Given the description of an element on the screen output the (x, y) to click on. 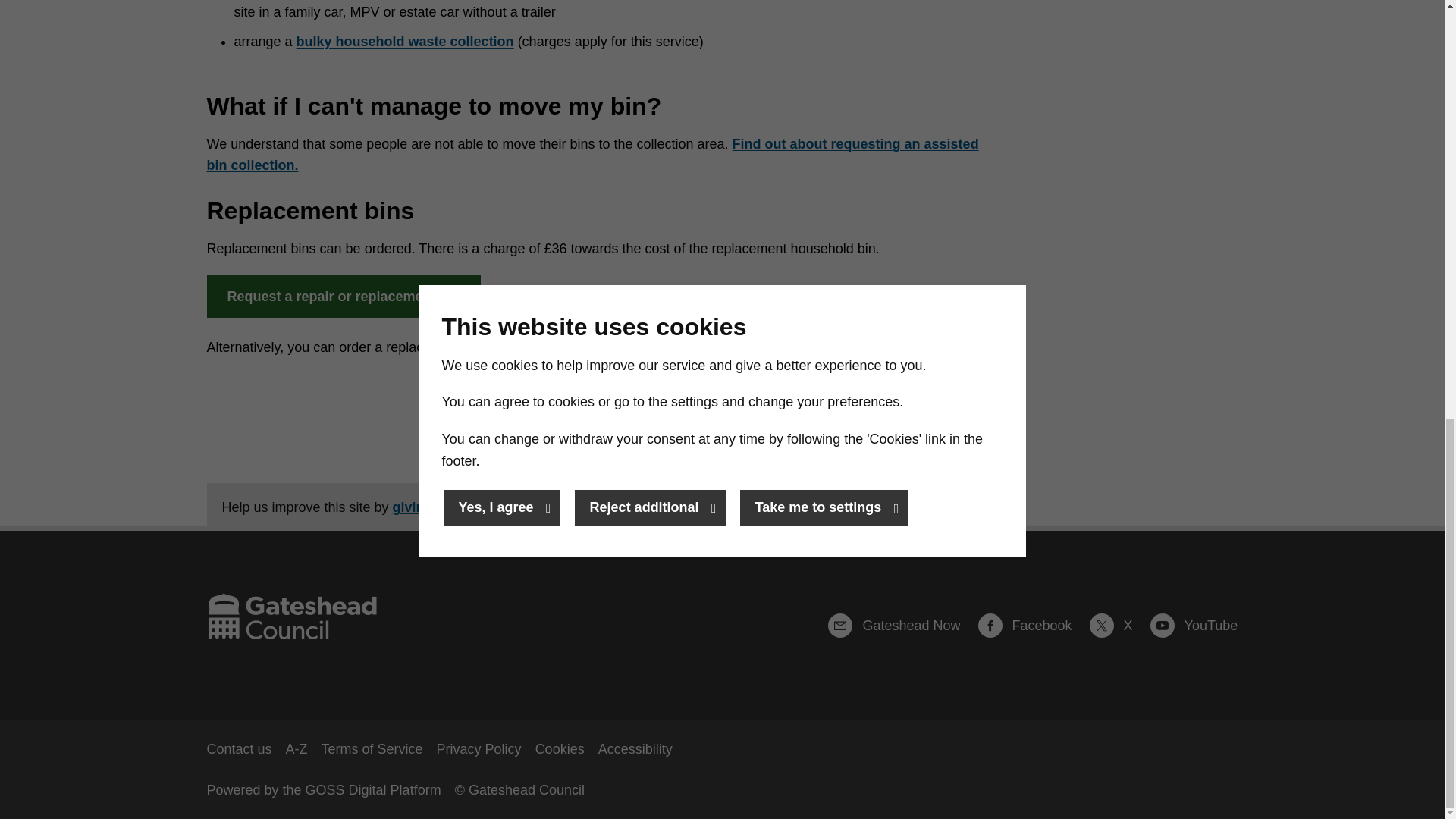
Gateshead Now (901, 625)
Request a repair or replacement bin (343, 296)
Find out about requesting an assisted bin collection. (592, 154)
YouTube : opens on new browser window or tab (1194, 625)
Gateshead Now (901, 625)
Facebook : opens on new browser window or tab (1032, 625)
giving feedback (444, 507)
X : opens on new browser window or tab (1118, 625)
bulky household waste collection (405, 41)
